Given the description of an element on the screen output the (x, y) to click on. 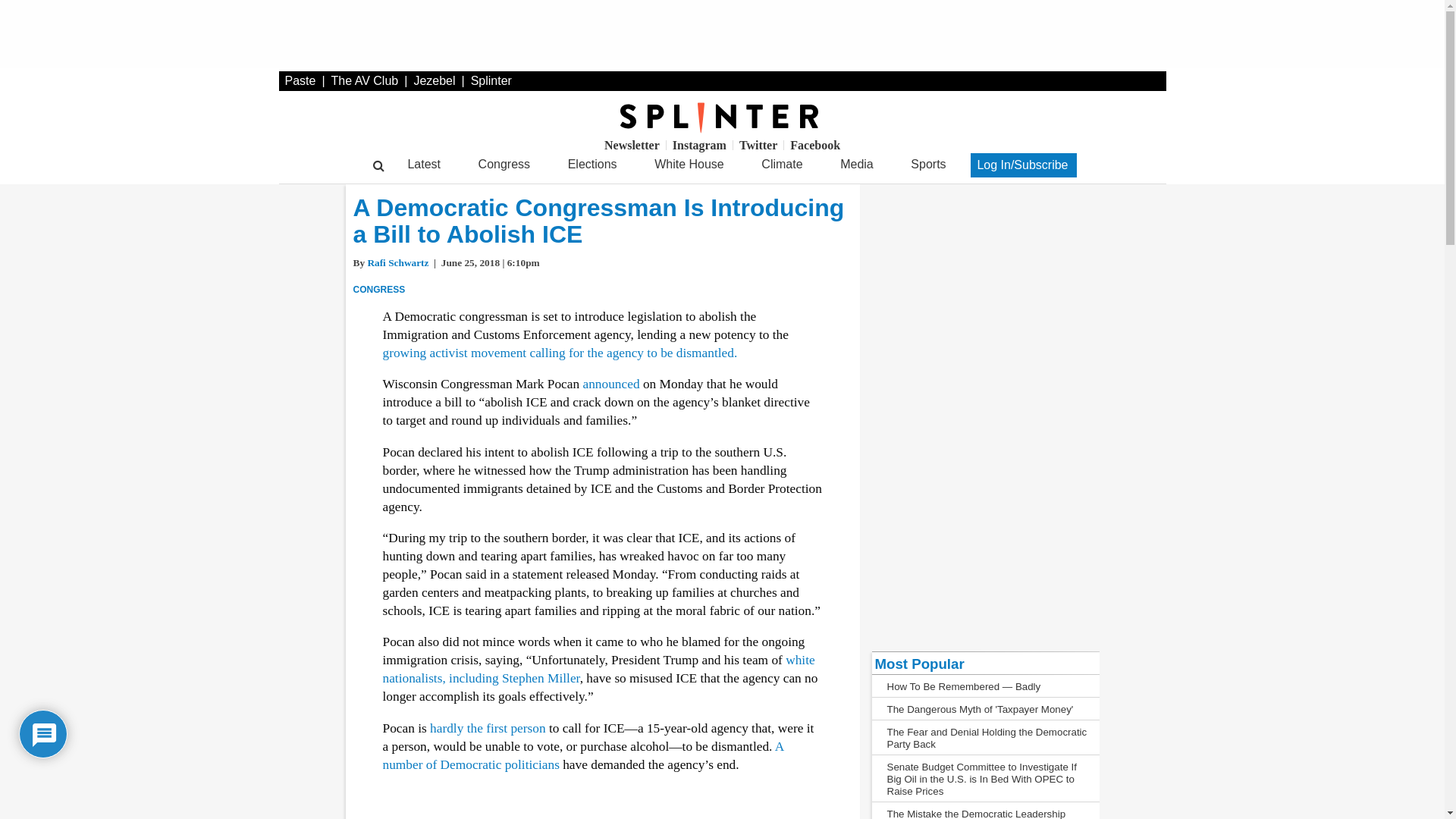
Facebook (814, 144)
Latest (424, 165)
Congress (504, 165)
Jezebel (433, 80)
Climate (782, 165)
Newsletter (631, 144)
Sports (928, 165)
Splinter (491, 80)
White House (688, 165)
Twitter (758, 144)
Elections (592, 165)
Paste (300, 80)
The AV Club (364, 80)
Instagram (699, 144)
Media (856, 165)
